Given the description of an element on the screen output the (x, y) to click on. 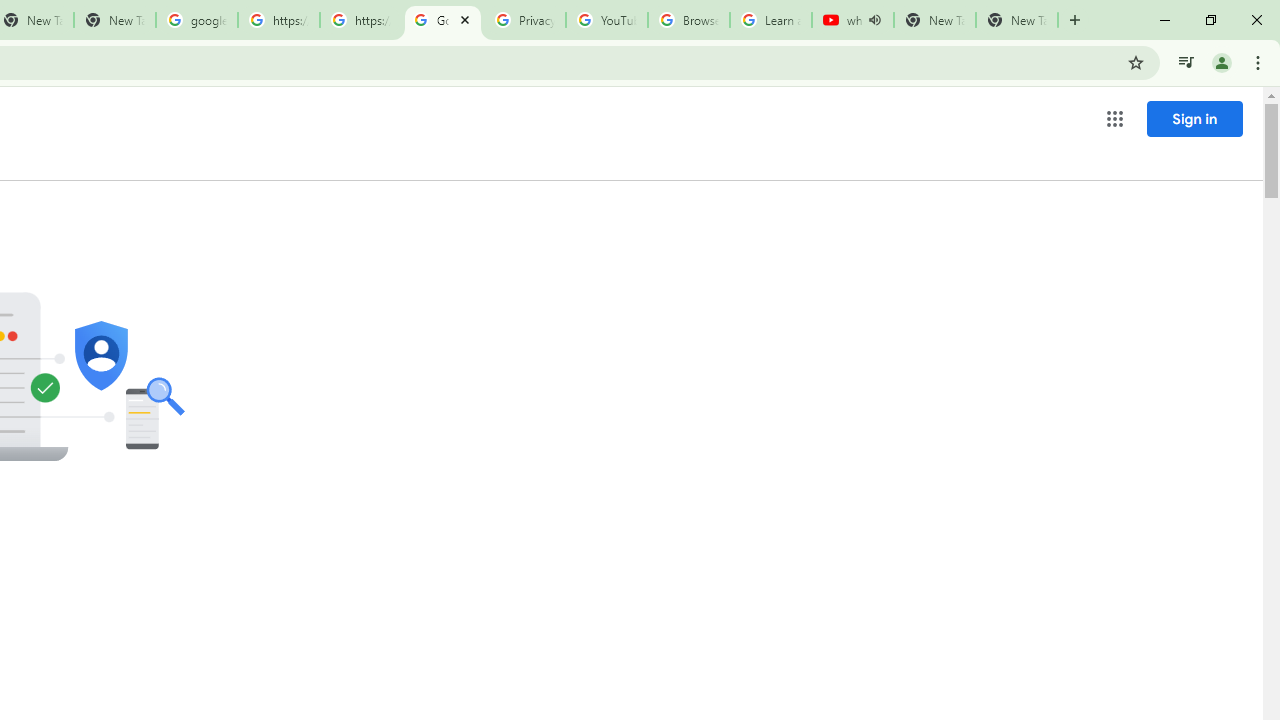
YouTube (606, 20)
https://scholar.google.com/ (360, 20)
https://scholar.google.com/ (278, 20)
